Given the description of an element on the screen output the (x, y) to click on. 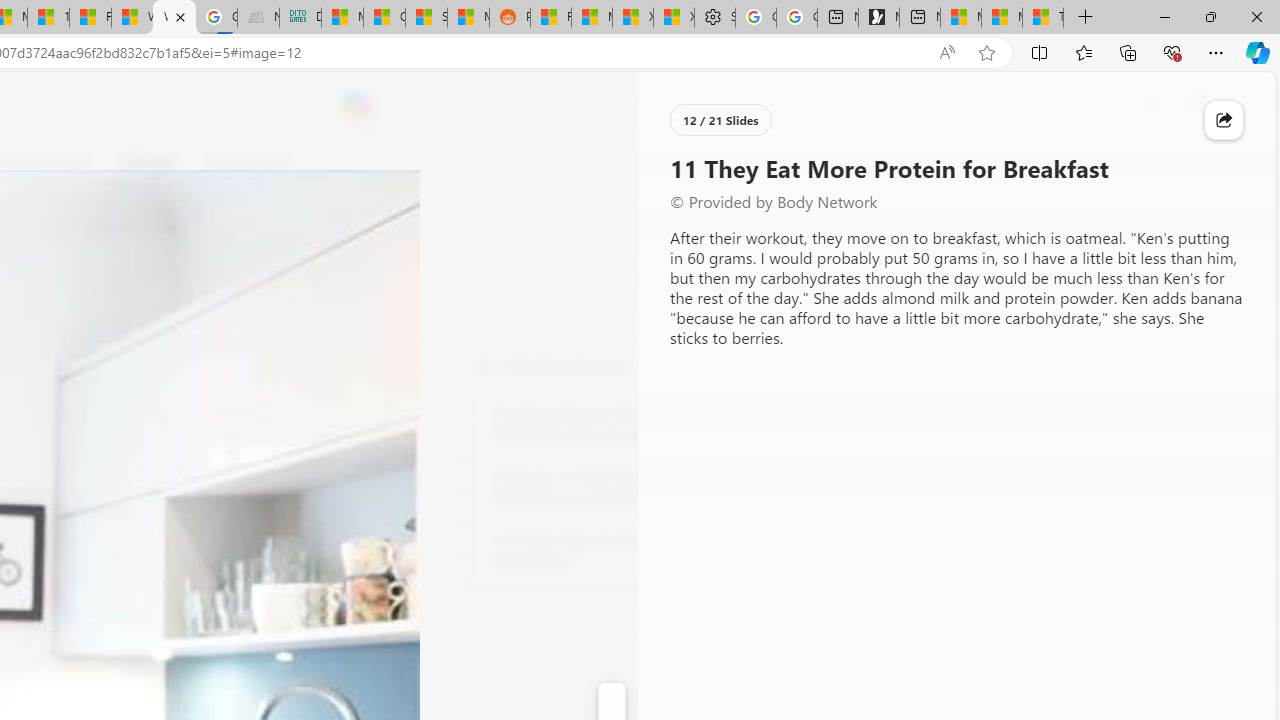
R******* | Trusted Community Engagement and Contributions (550, 17)
